Given the description of an element on the screen output the (x, y) to click on. 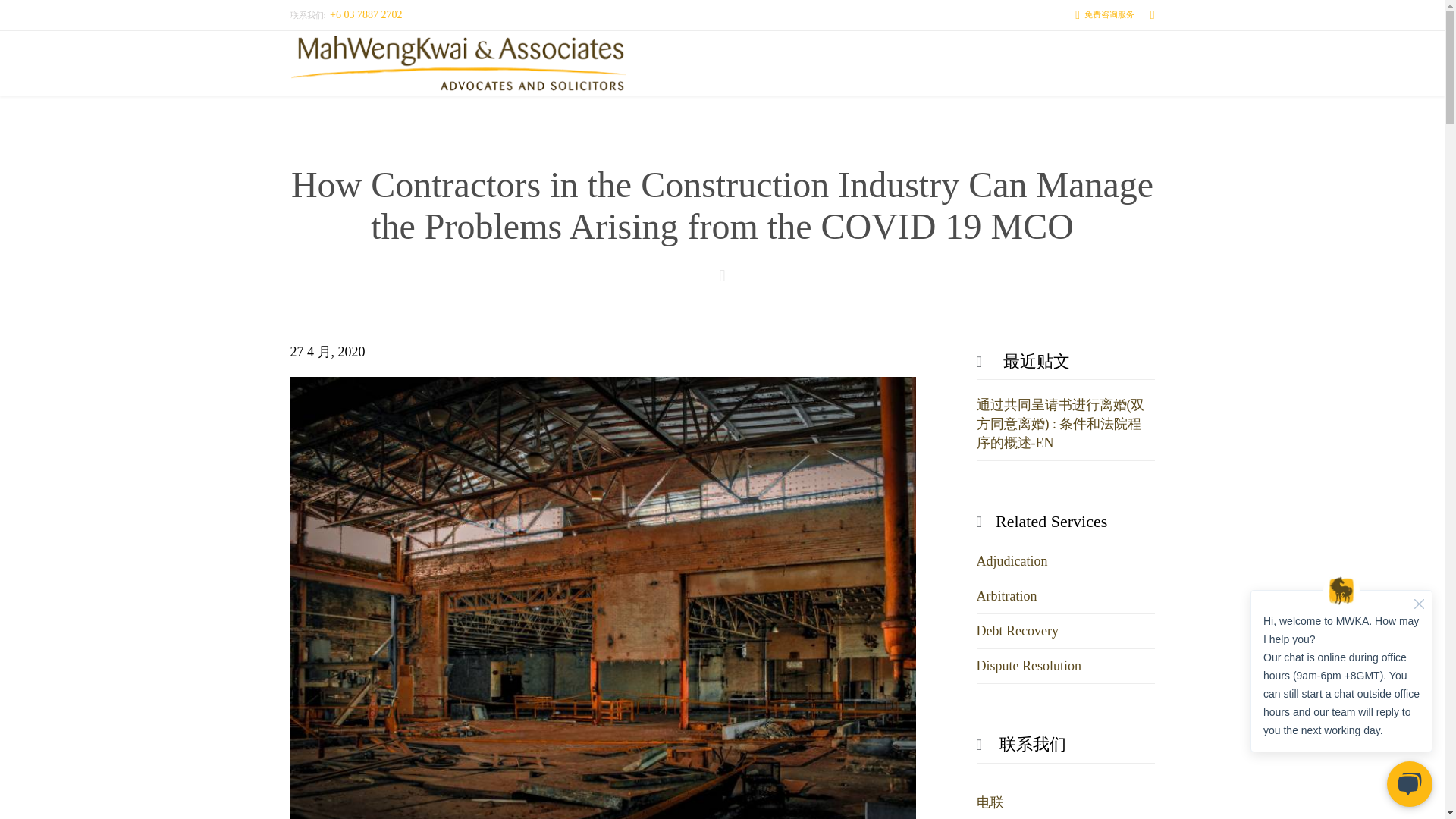
Debt Recovery (1017, 630)
Adjudication (1012, 560)
Dispute Resolution (1028, 665)
Arbitration (1006, 595)
